Given the description of an element on the screen output the (x, y) to click on. 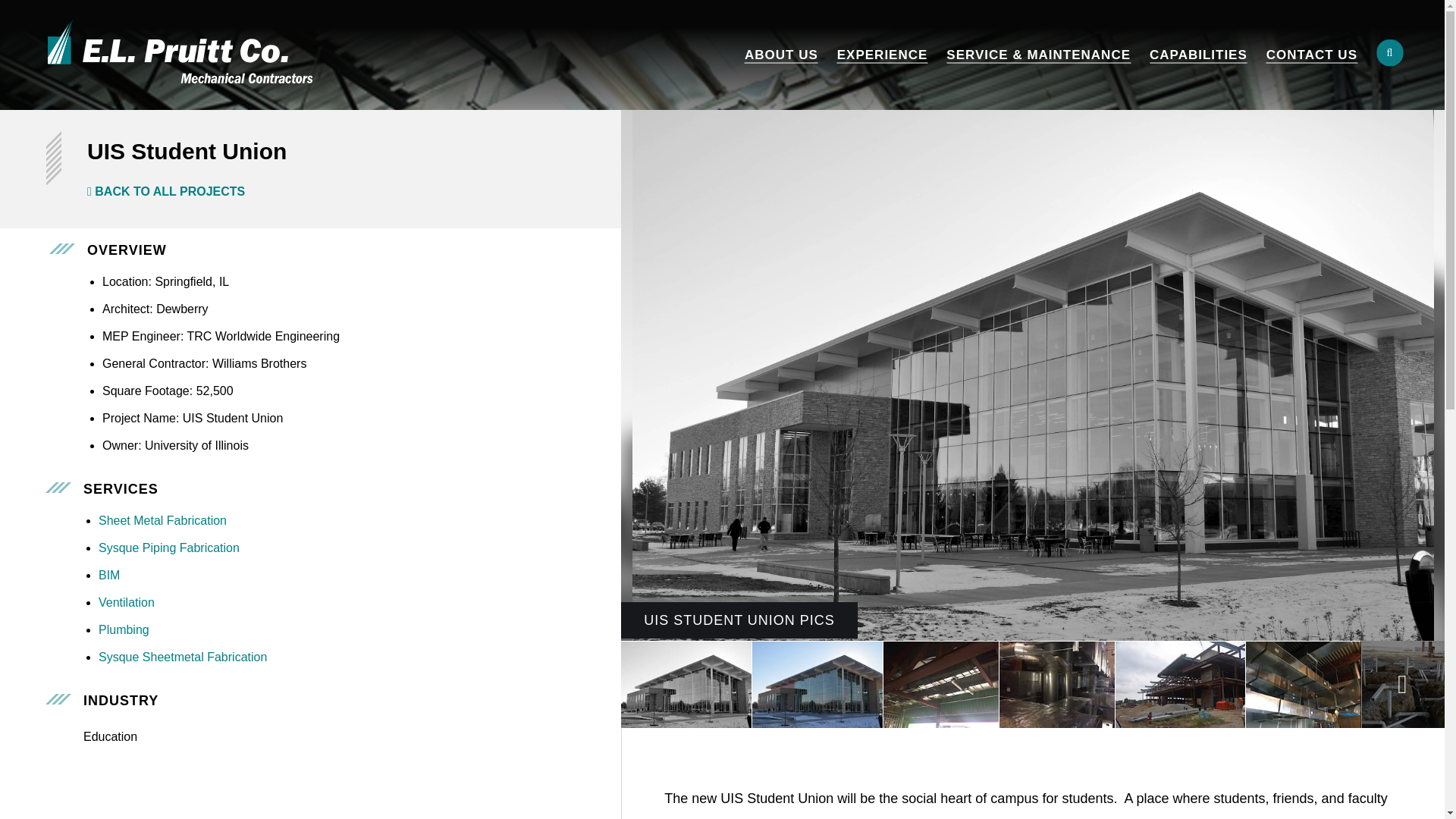
Sysque Piping Fabrication (169, 547)
Sysque Sheetmetal Fabrication (182, 656)
Plumbing (124, 629)
CAPABILITIES (1198, 55)
EXPERIENCE (882, 55)
ABOUT US (781, 55)
BIM (109, 574)
BACK TO ALL PROJECTS (165, 191)
Ventilation (126, 602)
CONTACT US (1311, 55)
Sheet Metal Fabrication (163, 520)
